Given the description of an element on the screen output the (x, y) to click on. 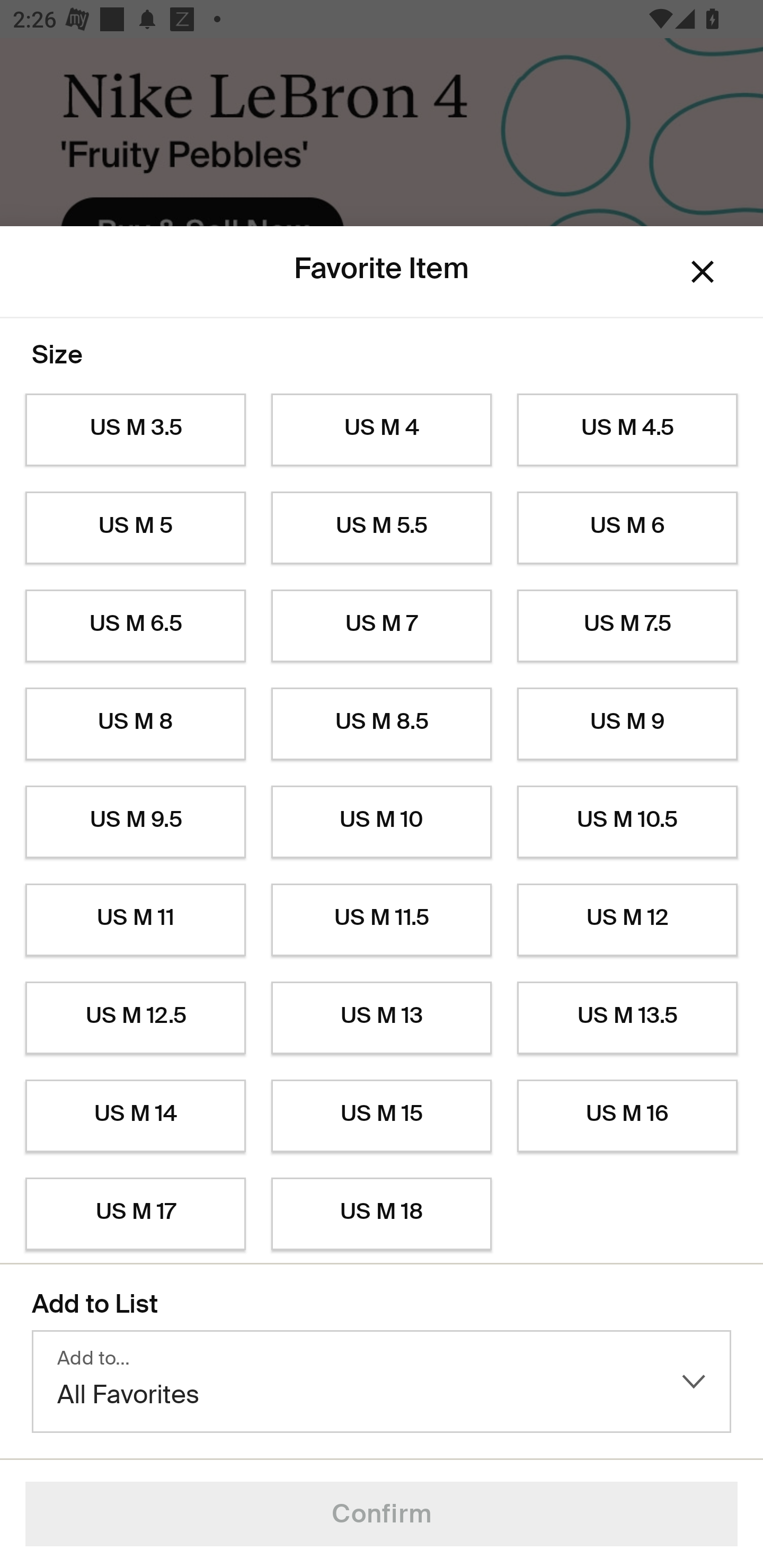
Dismiss (702, 271)
US M 3.5 (135, 430)
US M 4 (381, 430)
US M 4.5 (627, 430)
US M 5 (135, 527)
US M 5.5 (381, 527)
US M 6 (627, 527)
US M 6.5 (135, 626)
US M 7 (381, 626)
US M 7.5 (627, 626)
US M 8 (135, 724)
US M 8.5 (381, 724)
US M 9 (627, 724)
US M 9.5 (135, 822)
US M 10 (381, 822)
US M 10.5 (627, 822)
US M 11 (135, 919)
US M 11.5 (381, 919)
US M 12 (627, 919)
US M 12.5 (135, 1018)
US M 13 (381, 1018)
US M 13.5 (627, 1018)
US M 14 (135, 1116)
US M 15 (381, 1116)
US M 16 (627, 1116)
US M 17 (135, 1214)
US M 18 (381, 1214)
Add to… All Favorites (381, 1381)
Confirm (381, 1513)
